Given the description of an element on the screen output the (x, y) to click on. 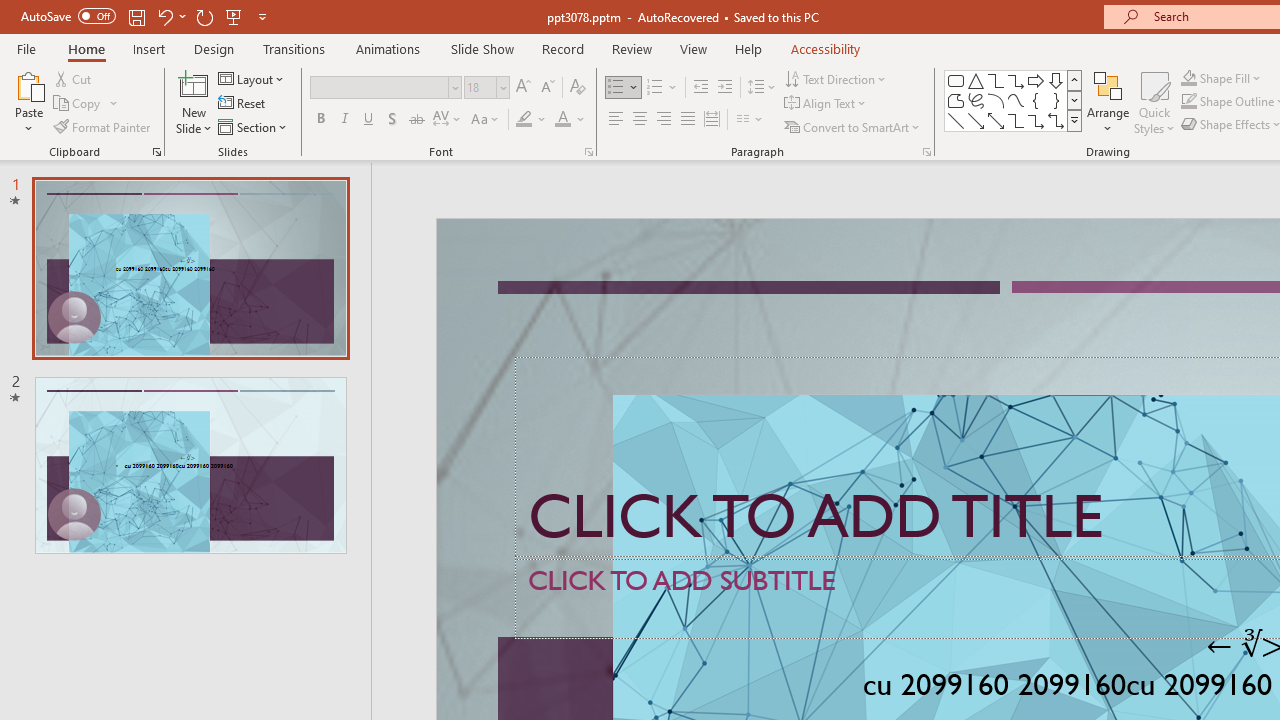
Line Arrow: Double (995, 120)
